Given the description of an element on the screen output the (x, y) to click on. 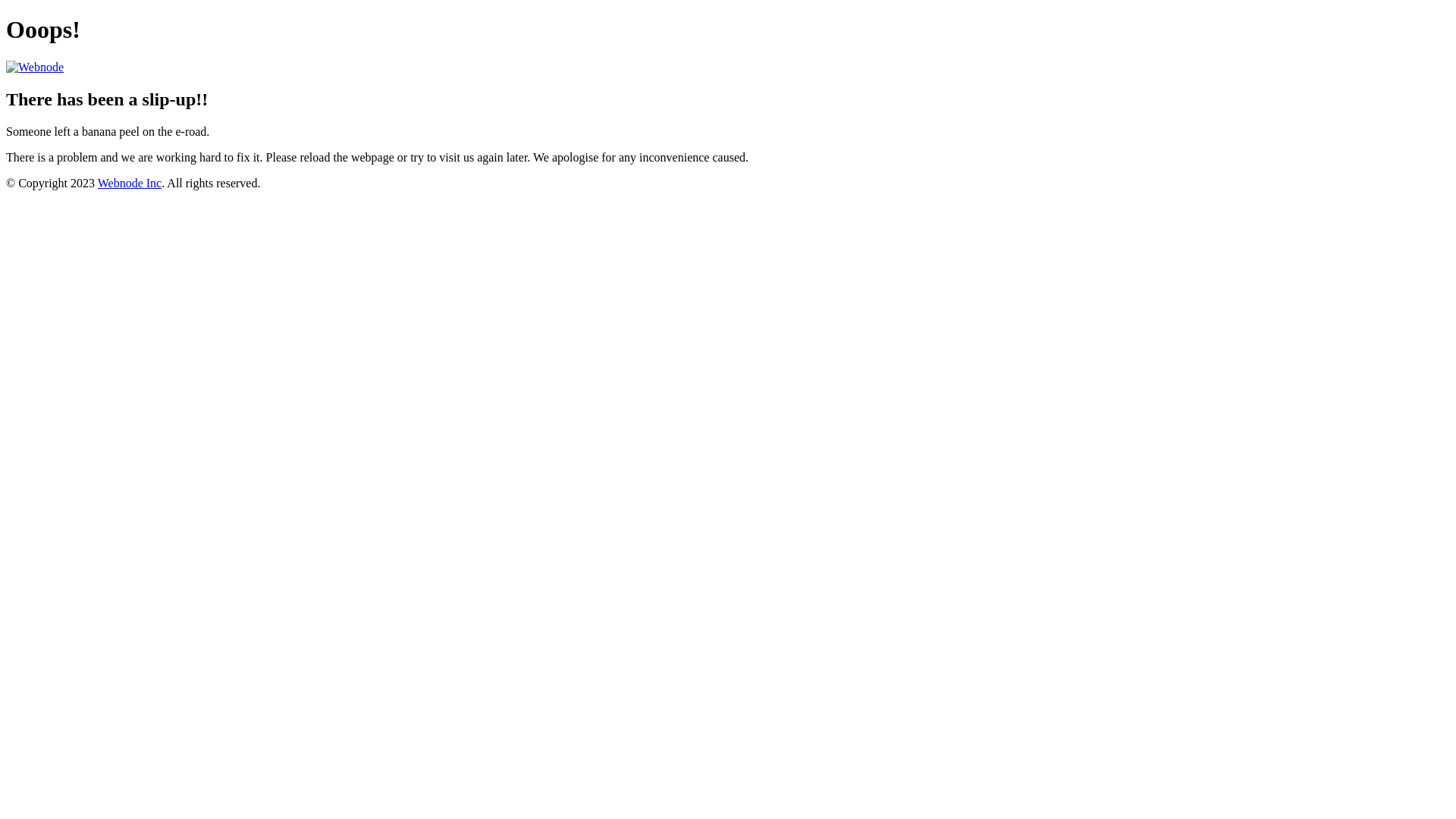
Webnode Inc Element type: text (129, 182)
